Given the description of an element on the screen output the (x, y) to click on. 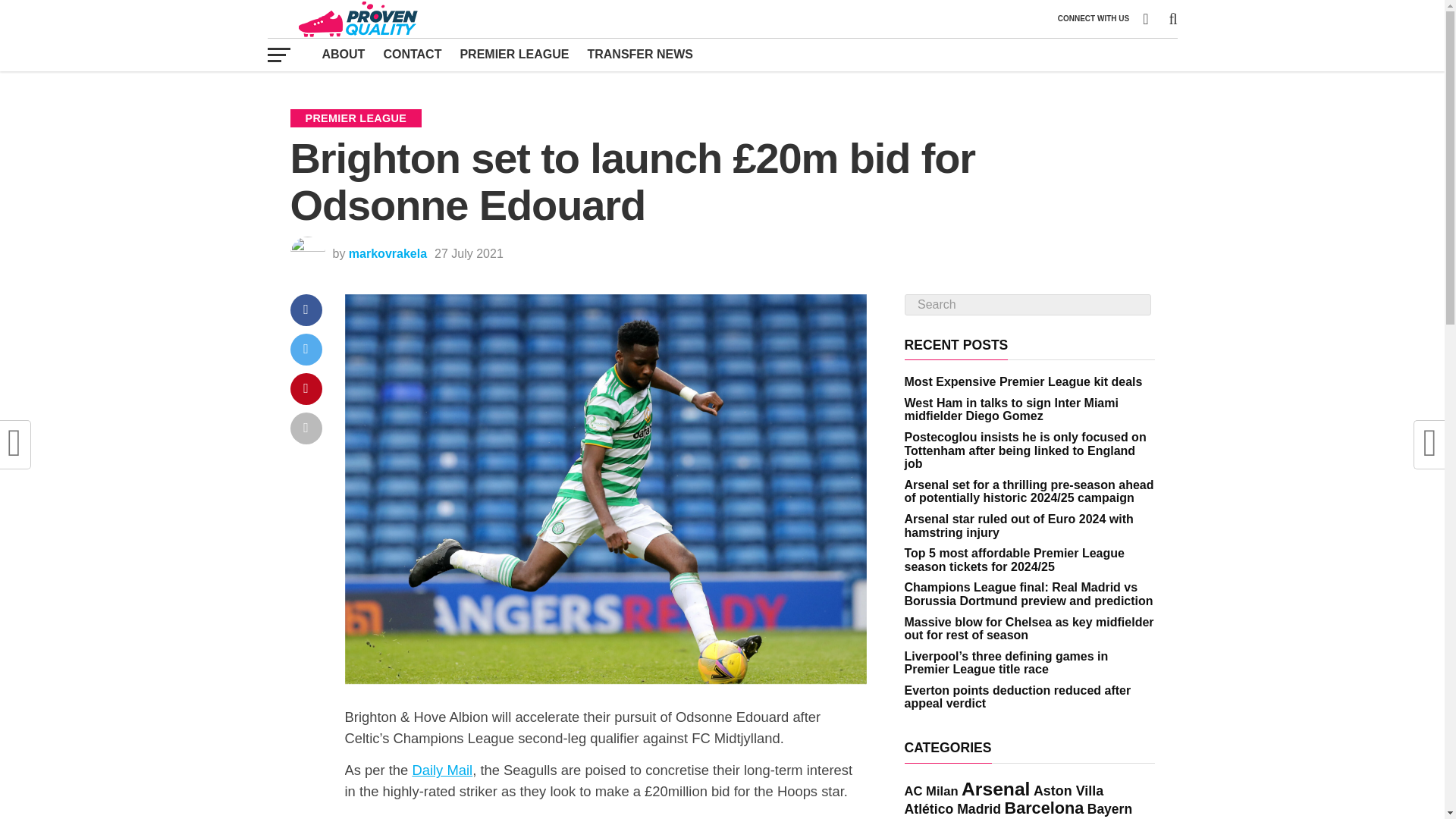
ABOUT (343, 54)
Everton points deduction reduced after appeal verdict (1017, 696)
TRANSFER NEWS (639, 54)
Arsenal star ruled out of Euro 2024 with hamstring injury (1018, 525)
Posts by markovrakela (387, 253)
CONTACT (411, 54)
AC Milan (931, 790)
Daily Mail (441, 770)
